Given the description of an element on the screen output the (x, y) to click on. 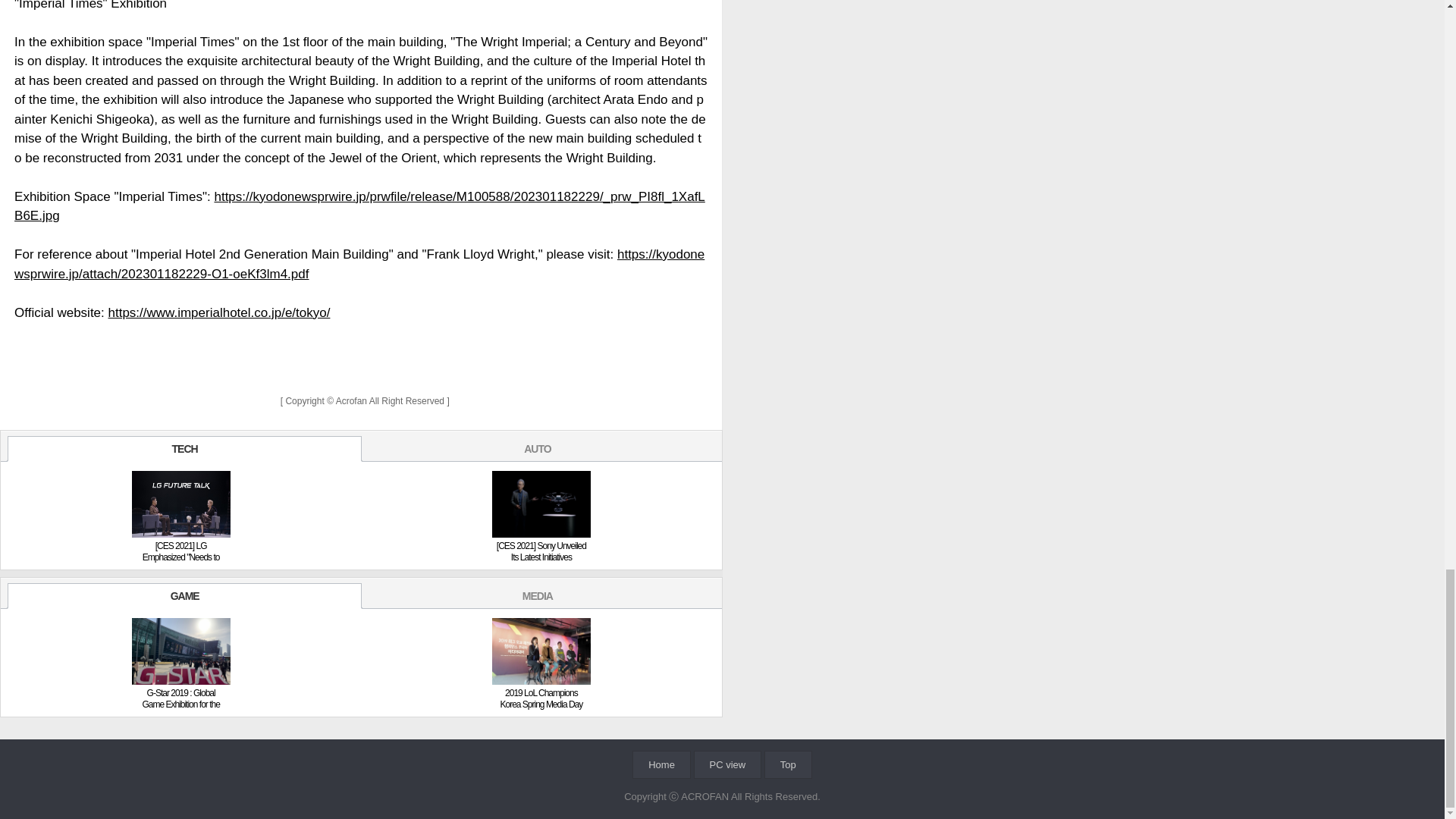
2019 LoL Champions Korea Spring Media Day (541, 698)
MEDIA (537, 596)
GAME (184, 596)
AUTO (537, 448)
Home (661, 764)
TECH (184, 448)
